Given the description of an element on the screen output the (x, y) to click on. 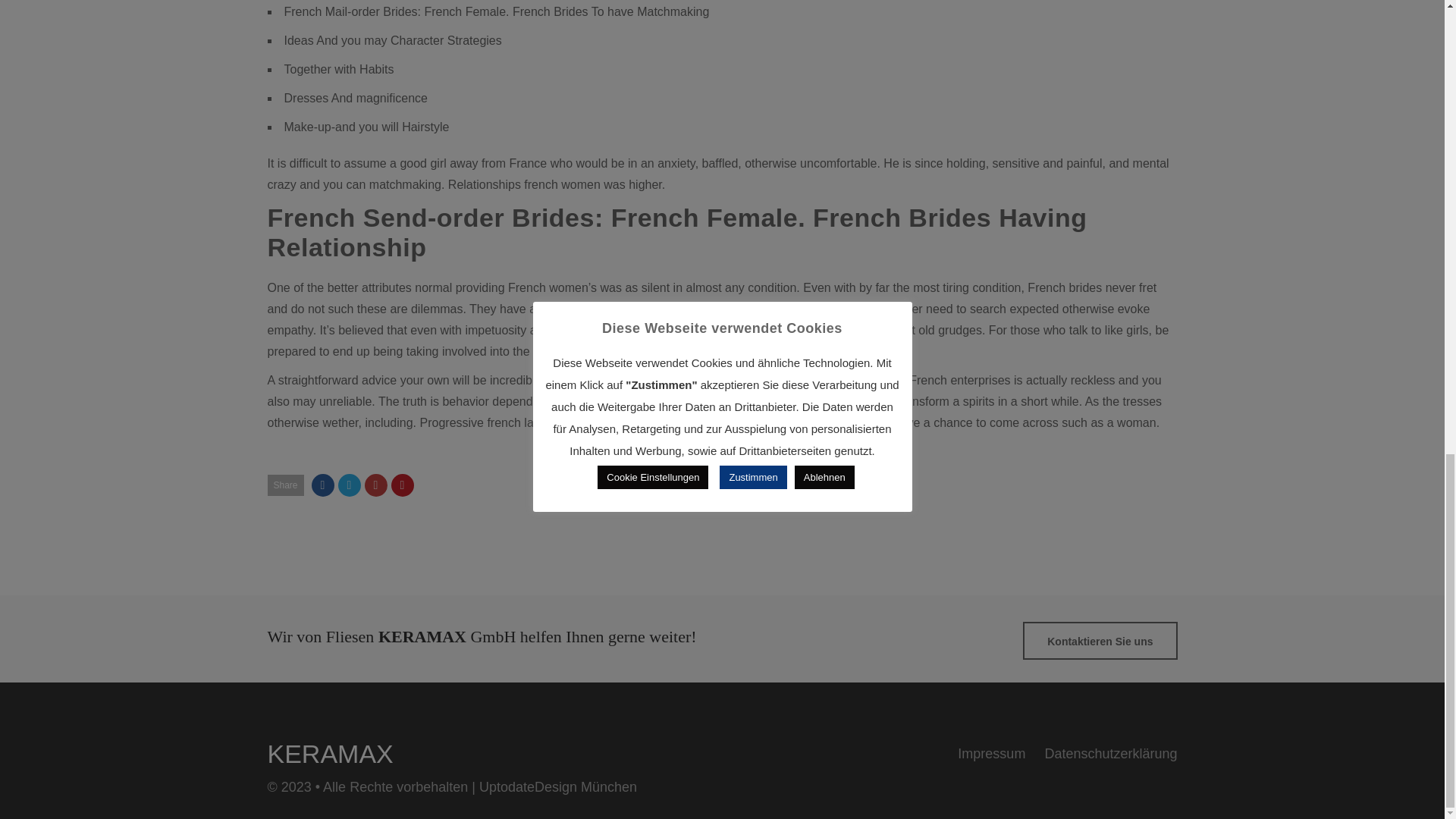
Kontaktieren Sie uns (1099, 640)
KERAMAX (329, 753)
Share (284, 485)
Impressum (991, 753)
